Given the description of an element on the screen output the (x, y) to click on. 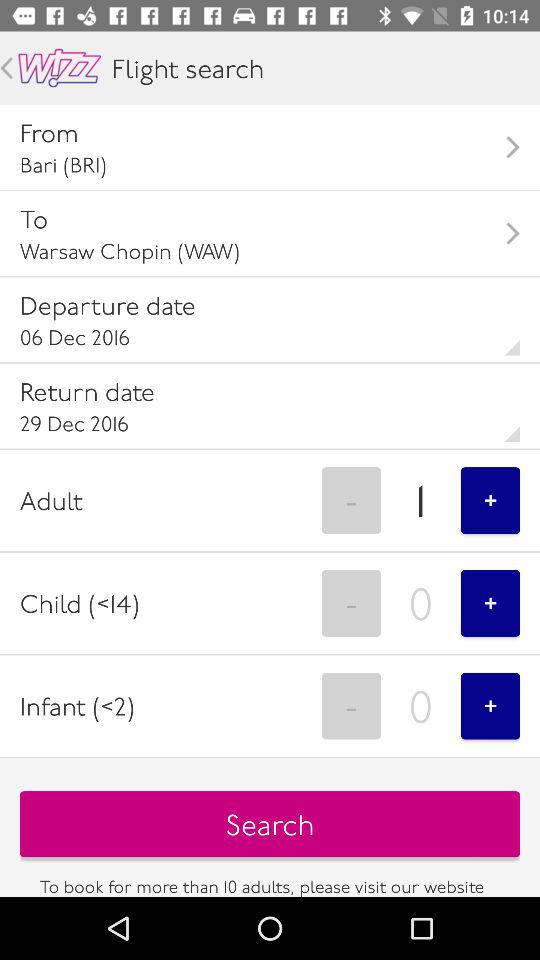
go next (6, 67)
